Given the description of an element on the screen output the (x, y) to click on. 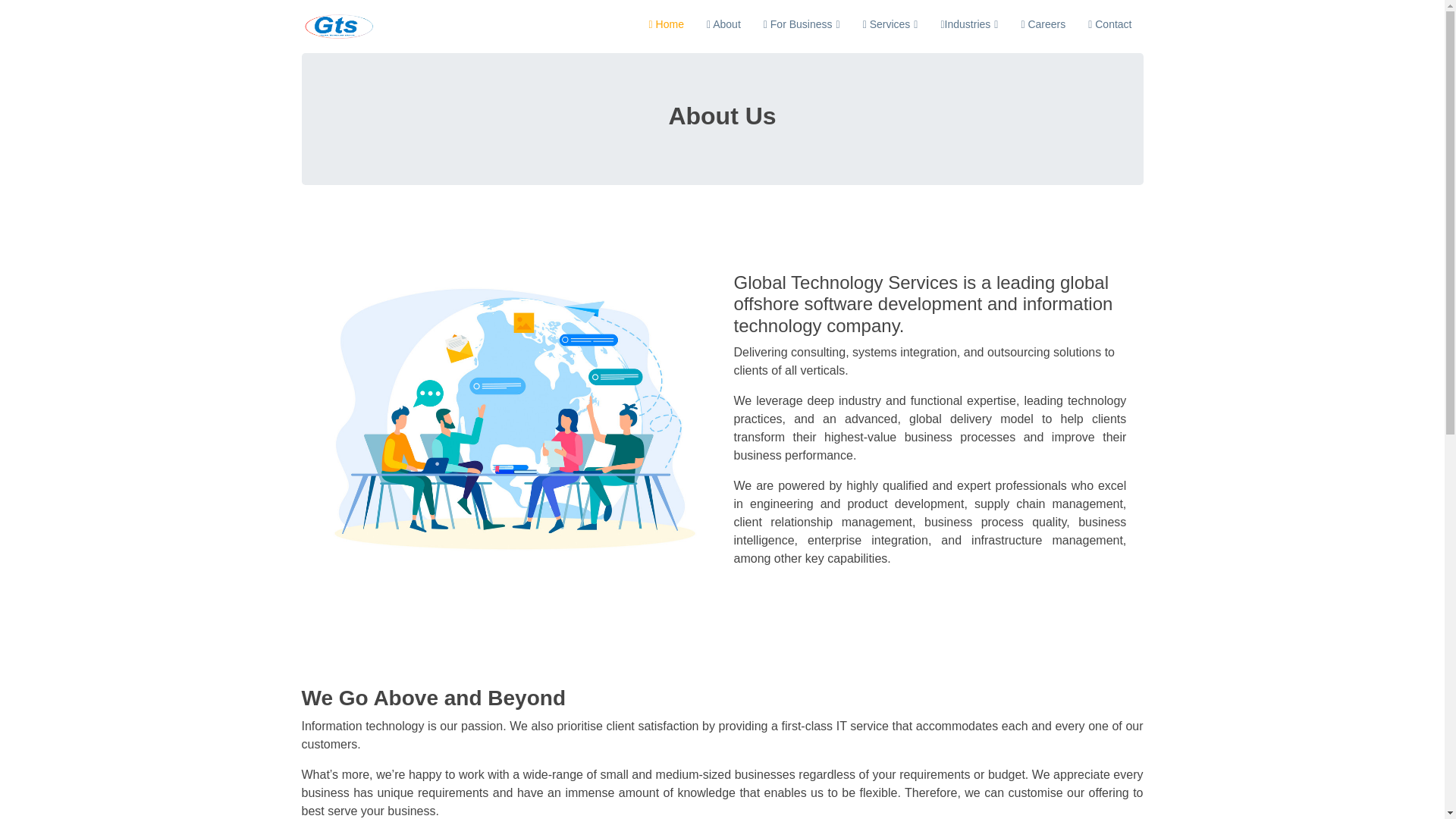
For Business (801, 24)
Careers (1043, 24)
Contact (1109, 24)
Services (890, 24)
About (723, 24)
Home (666, 24)
Contact (1109, 24)
Industries (968, 24)
Home (666, 24)
Careers (1043, 24)
About (723, 24)
